Given the description of an element on the screen output the (x, y) to click on. 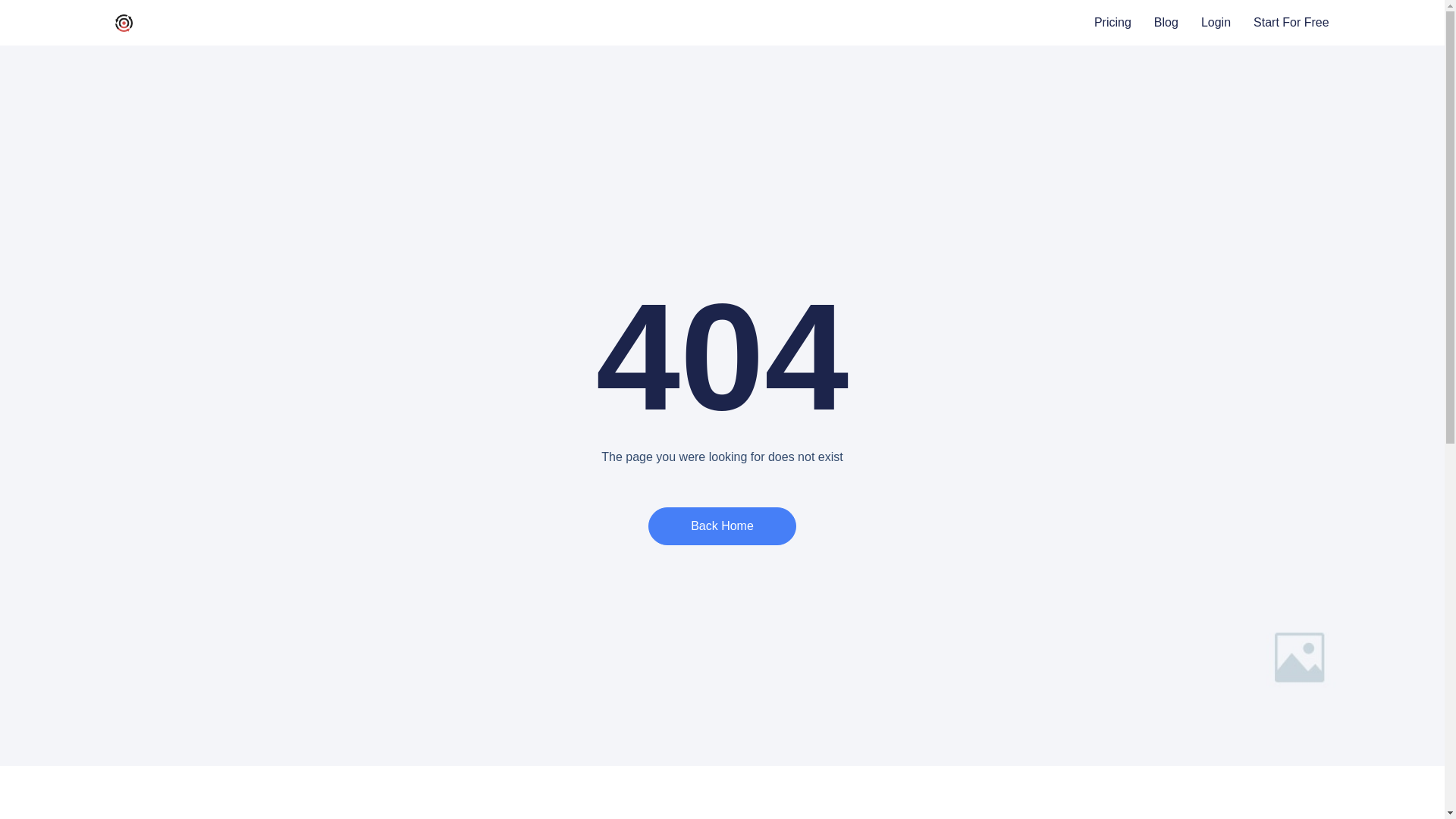
Login (1215, 22)
Blog (1165, 22)
Pricing (1112, 22)
Back Home (721, 525)
Start For Free (1291, 22)
